Given the description of an element on the screen output the (x, y) to click on. 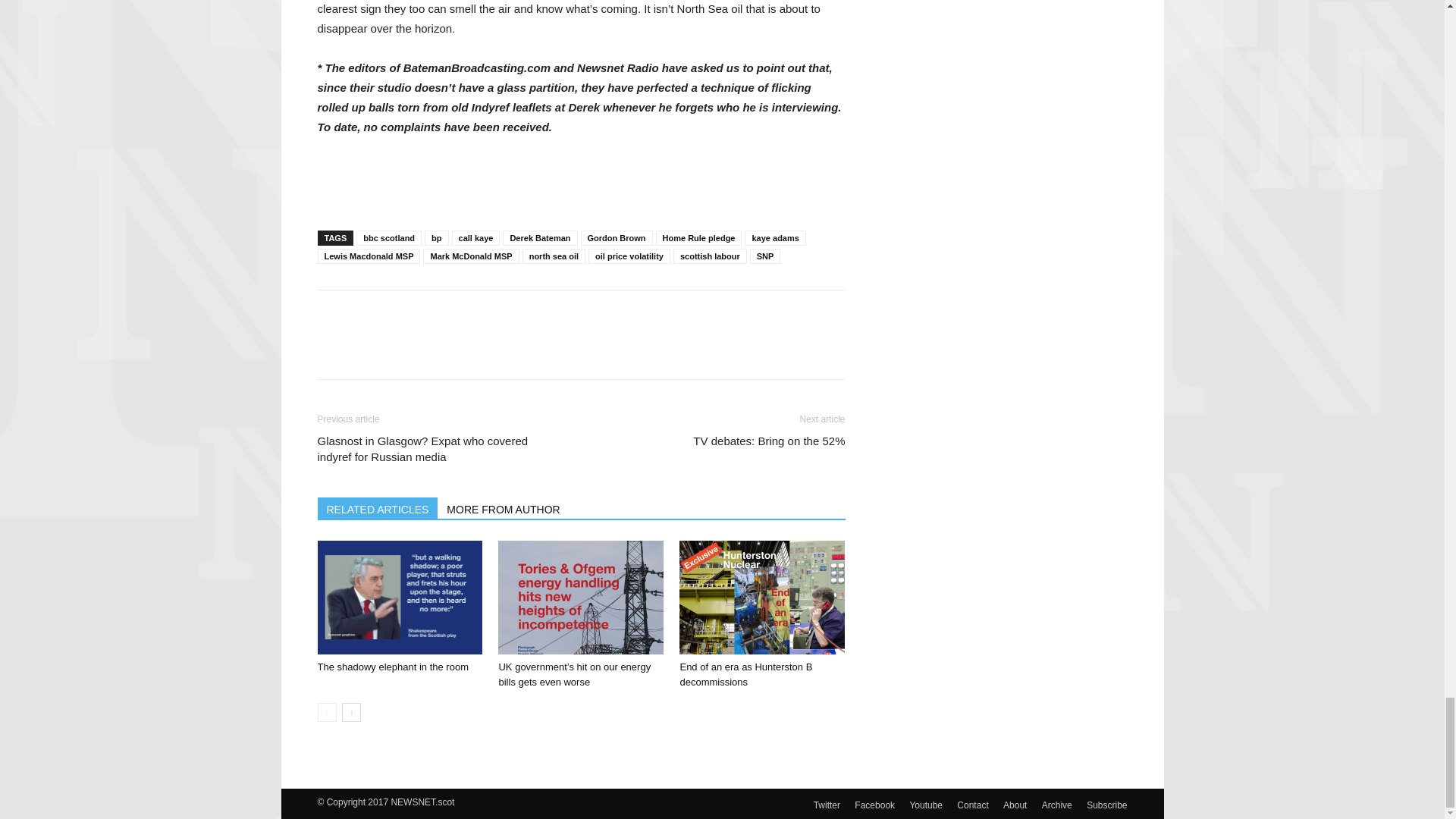
The shadowy elephant in the room (392, 666)
End of an era as Hunterston B decommissions (745, 673)
The shadowy elephant in the room (399, 597)
End of an era as Hunterston B decommissions (761, 597)
